Given the description of an element on the screen output the (x, y) to click on. 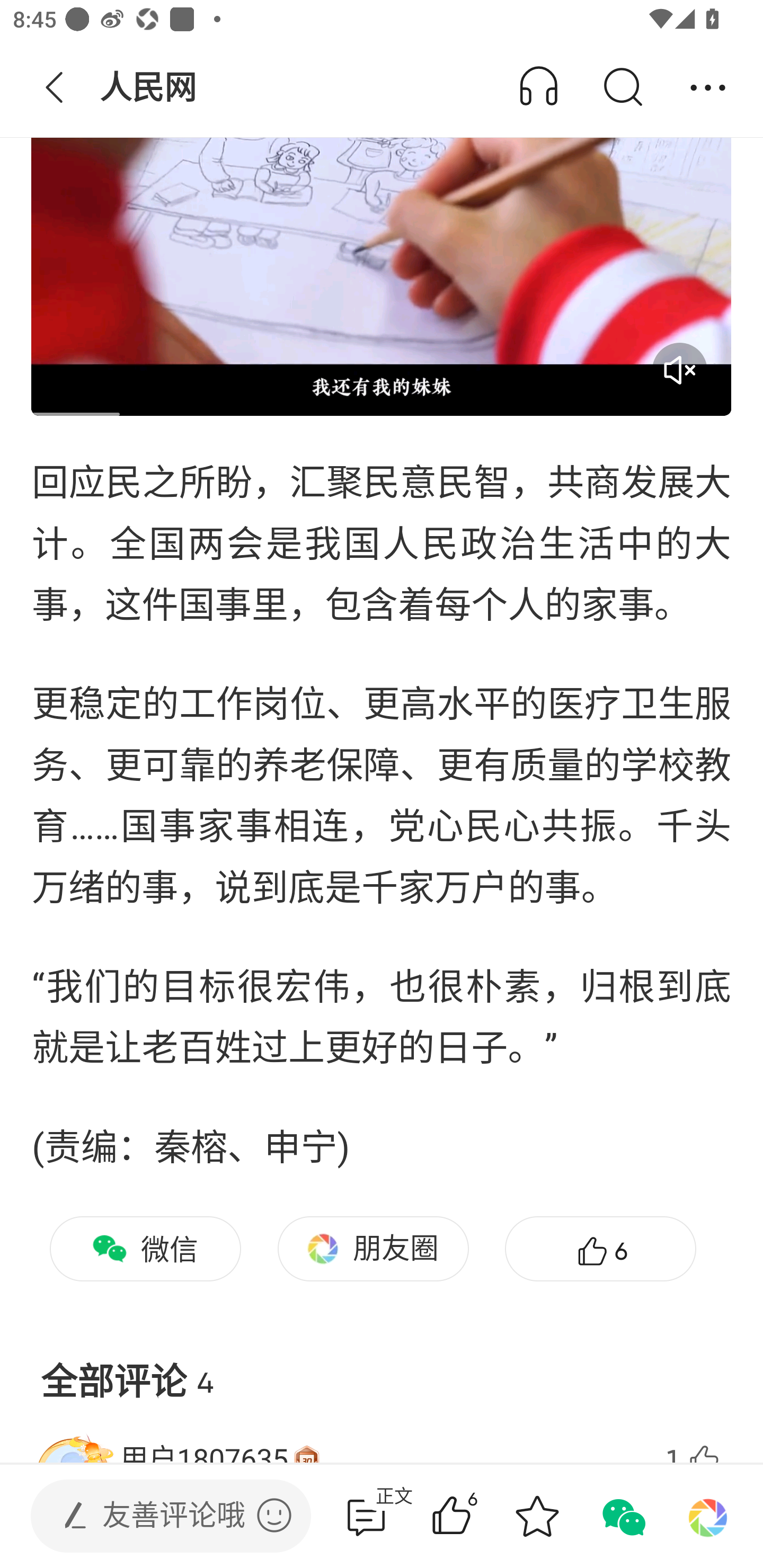
03:49 (381, 218)
人民网 (150, 87)
搜索  (622, 87)
分享  (707, 87)
 返回 (54, 87)
音量开关 (679, 369)
微信 分享到微信 (145, 1248)
朋友圈 分享到朋友圈 (373, 1248)
6赞 (600, 1248)
全部评论 4 (381, 1366)
发表评论  友善评论哦 发表评论  (155, 1516)
4评论  正文 正文 (365, 1516)
6赞 (476, 1516)
收藏  (536, 1516)
分享到微信  (622, 1516)
分享到朋友圈 (707, 1516)
 (274, 1515)
